Given the description of an element on the screen output the (x, y) to click on. 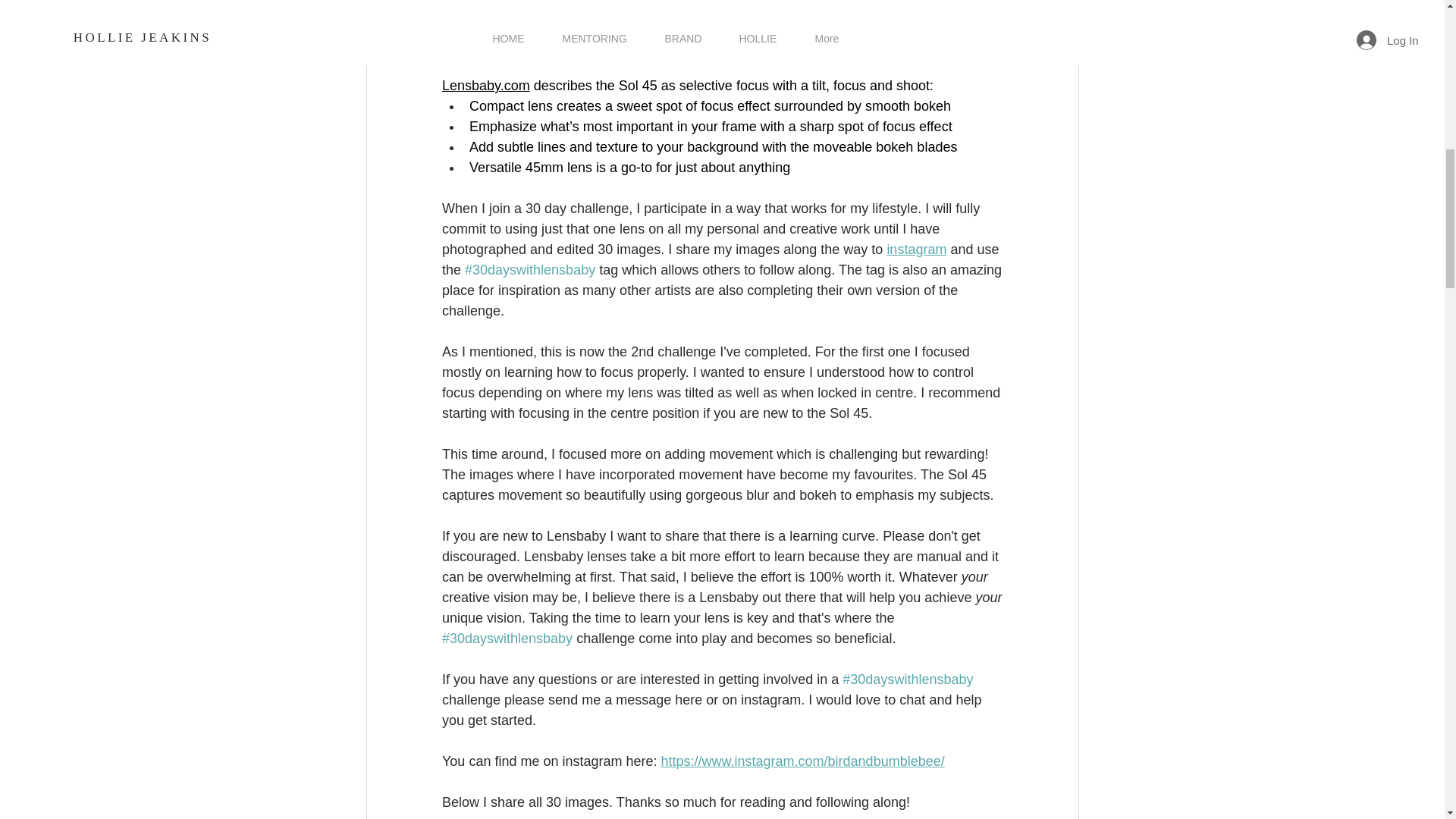
instagram (916, 249)
Lensbaby.com (485, 85)
